Given the description of an element on the screen output the (x, y) to click on. 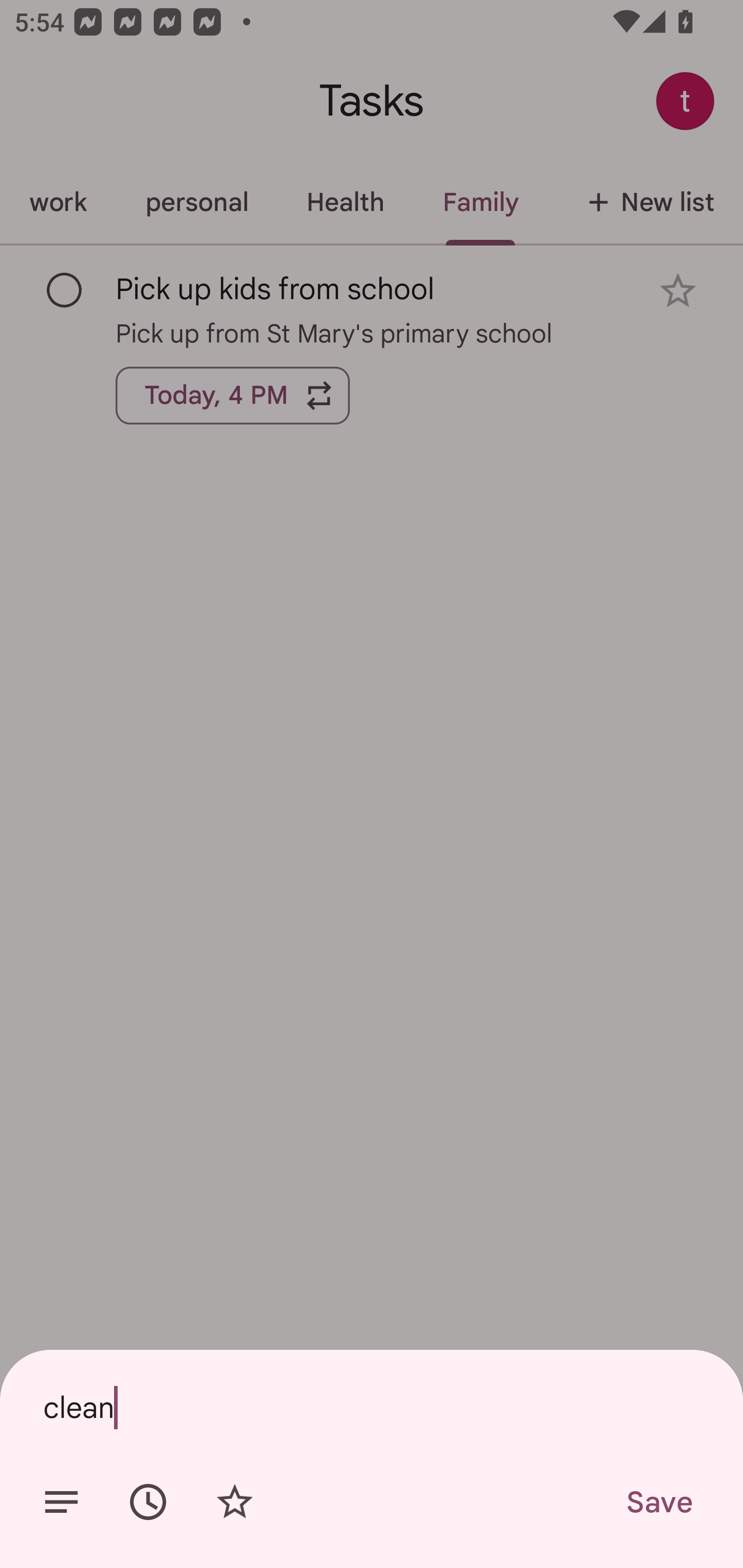
clean (371, 1407)
Save (659, 1501)
Add details (60, 1501)
Set date/time (147, 1501)
Add star (234, 1501)
